Given the description of an element on the screen output the (x, y) to click on. 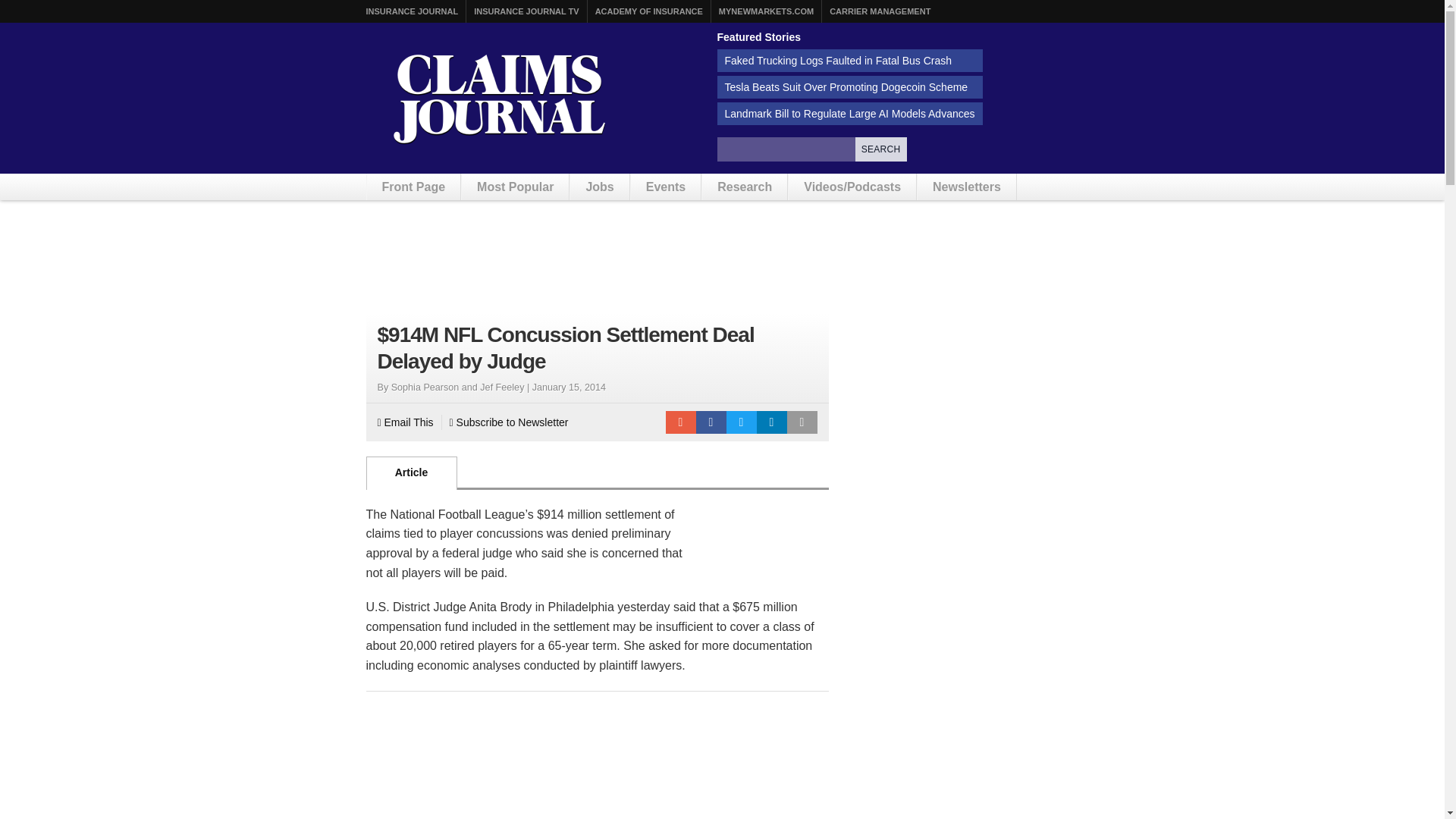
Landmark Bill to Regulate Large AI Models Advances (849, 113)
Email to a friend (680, 422)
Most Popular (515, 186)
SEARCH (881, 149)
Article (411, 472)
LinkedIn (772, 422)
Newsletters (966, 186)
Subscribe to Newsletter (509, 422)
INSURANCE JOURNAL TV (526, 11)
Jobs (599, 186)
